Given the description of an element on the screen output the (x, y) to click on. 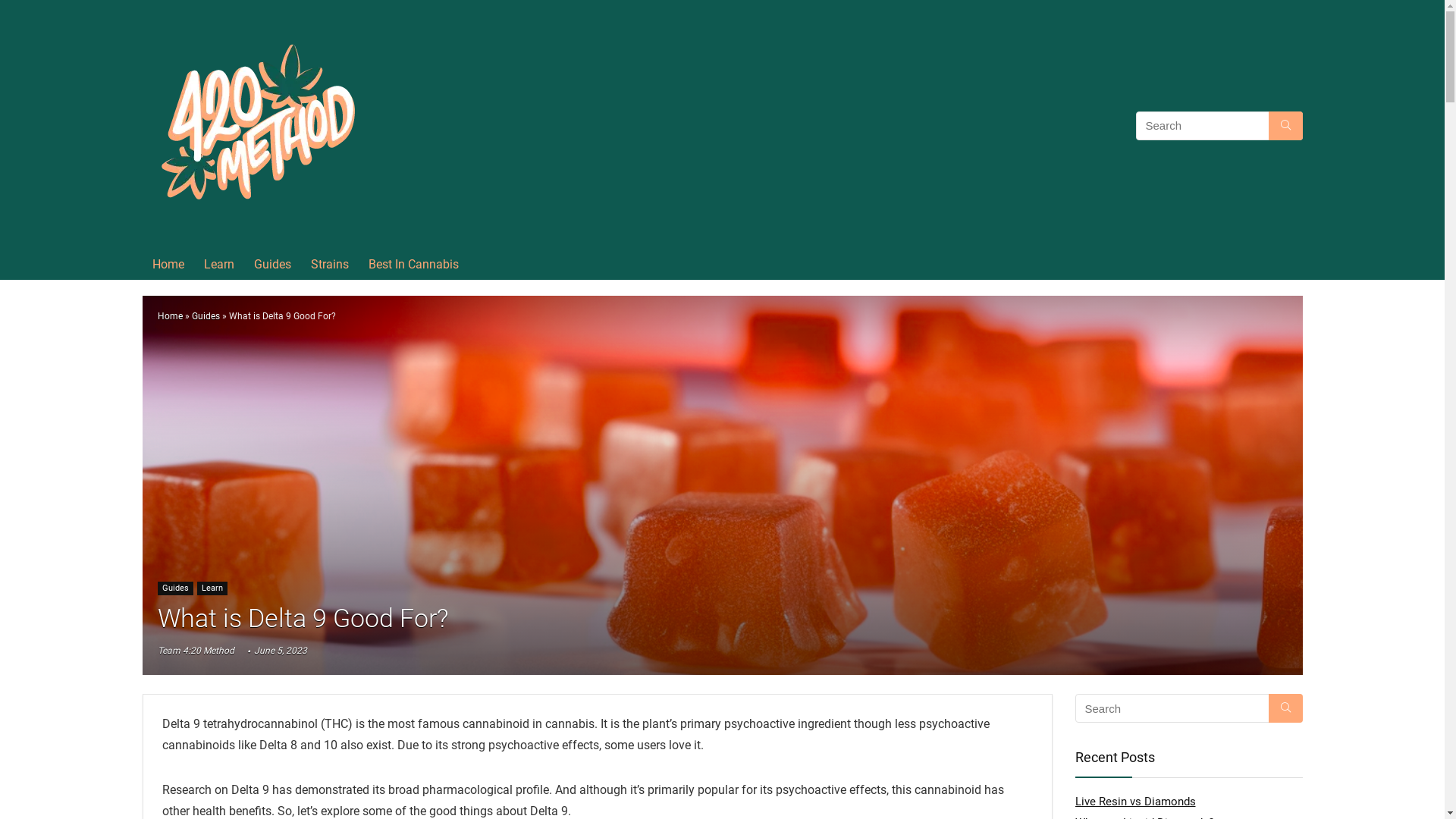
Best In Cannabis Element type: text (412, 265)
Team 4:20 Method Element type: text (195, 650)
Home Element type: text (168, 265)
Live Resin vs Diamonds Element type: text (1135, 801)
Learn Element type: text (212, 588)
Guides Element type: text (205, 315)
Learn Element type: text (219, 265)
Guides Element type: text (272, 265)
Home Element type: text (169, 315)
Guides Element type: text (175, 588)
Strains Element type: text (328, 265)
